Given the description of an element on the screen output the (x, y) to click on. 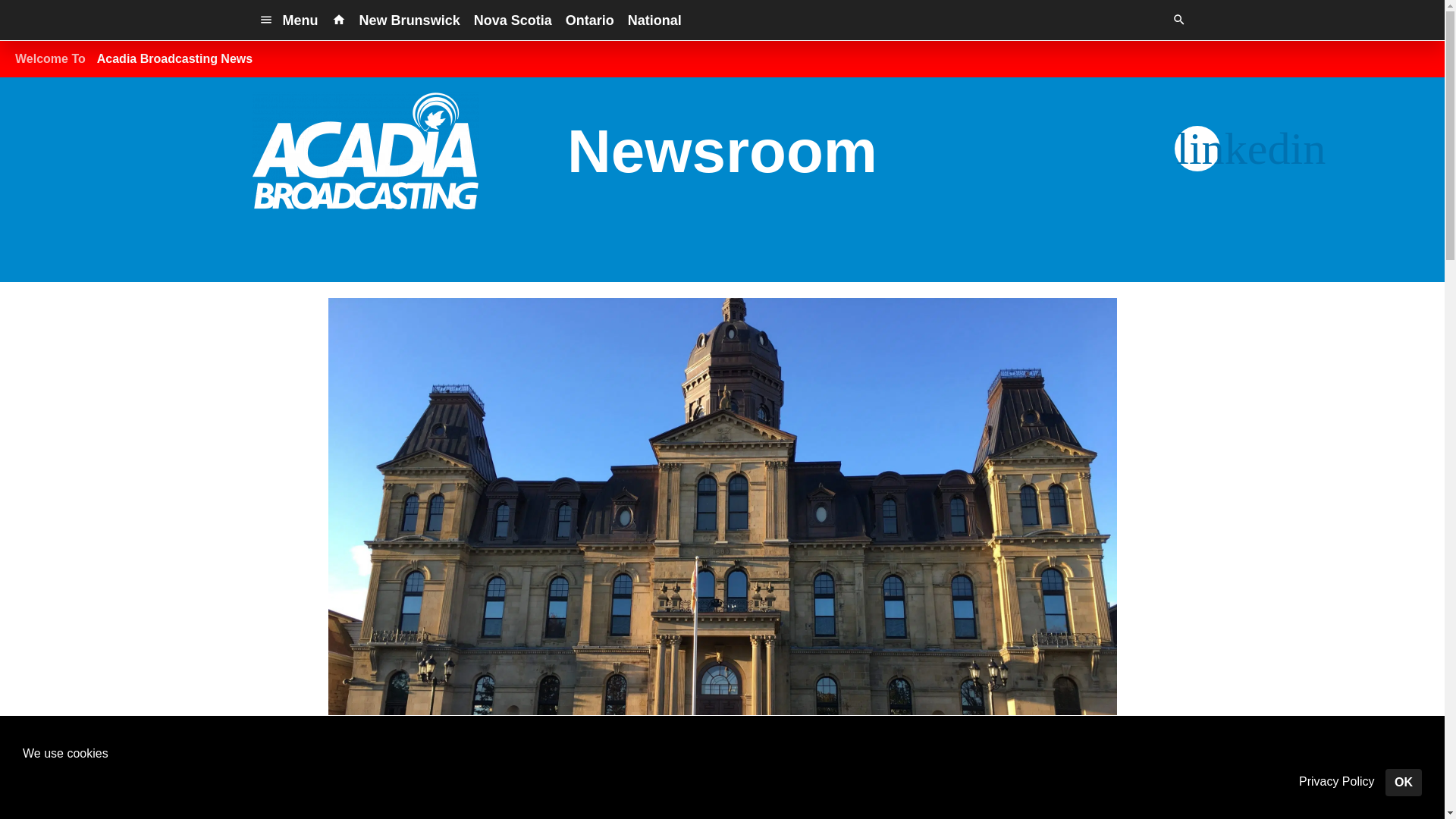
OK (1404, 782)
National (654, 19)
Acadia Broadcasting News (174, 58)
LinkedIn (1197, 148)
Privacy Policy (1336, 781)
Menu (287, 19)
New Brunswick (409, 19)
Nova Scotia (513, 19)
Ontario (590, 19)
Acadia Broadcasting News (174, 58)
